Given the description of an element on the screen output the (x, y) to click on. 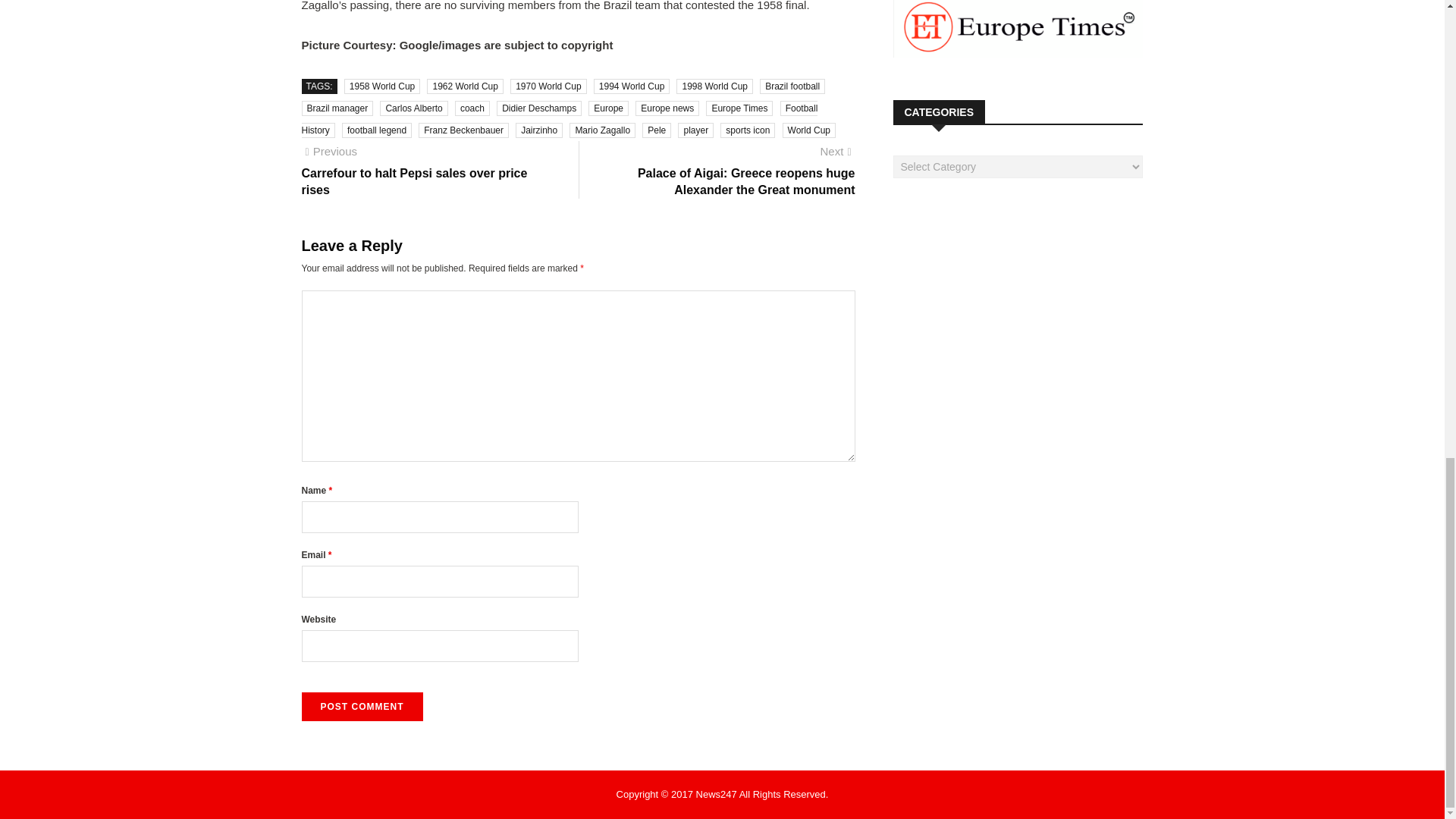
Post Comment (362, 706)
1962 World Cup (464, 86)
1958 World Cup (381, 86)
